Given the description of an element on the screen output the (x, y) to click on. 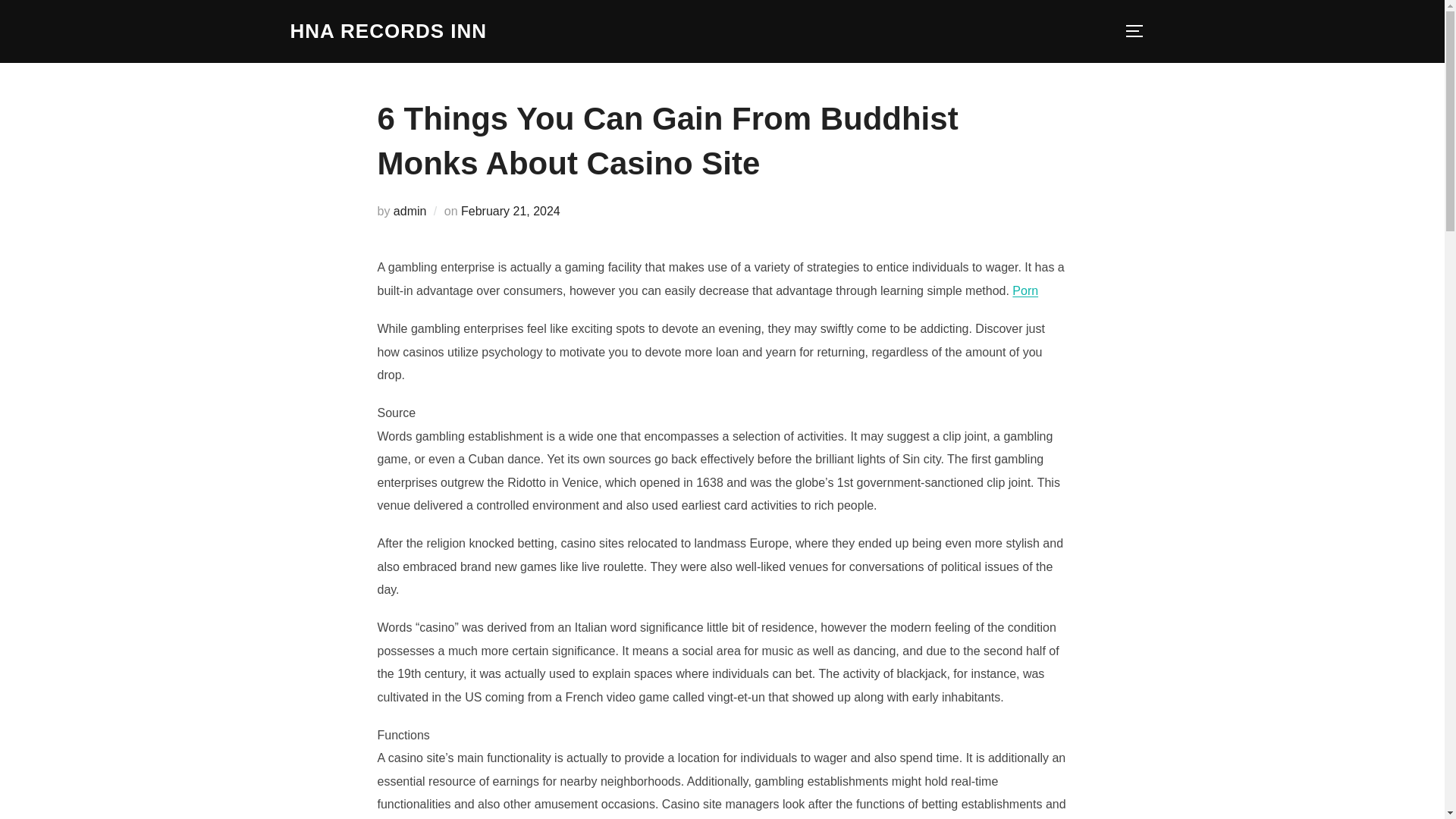
February 21, 2024 (510, 210)
HNA RECORDS INN (387, 31)
My WordPress Blog (387, 31)
Porn (1024, 290)
admin (409, 210)
